Given the description of an element on the screen output the (x, y) to click on. 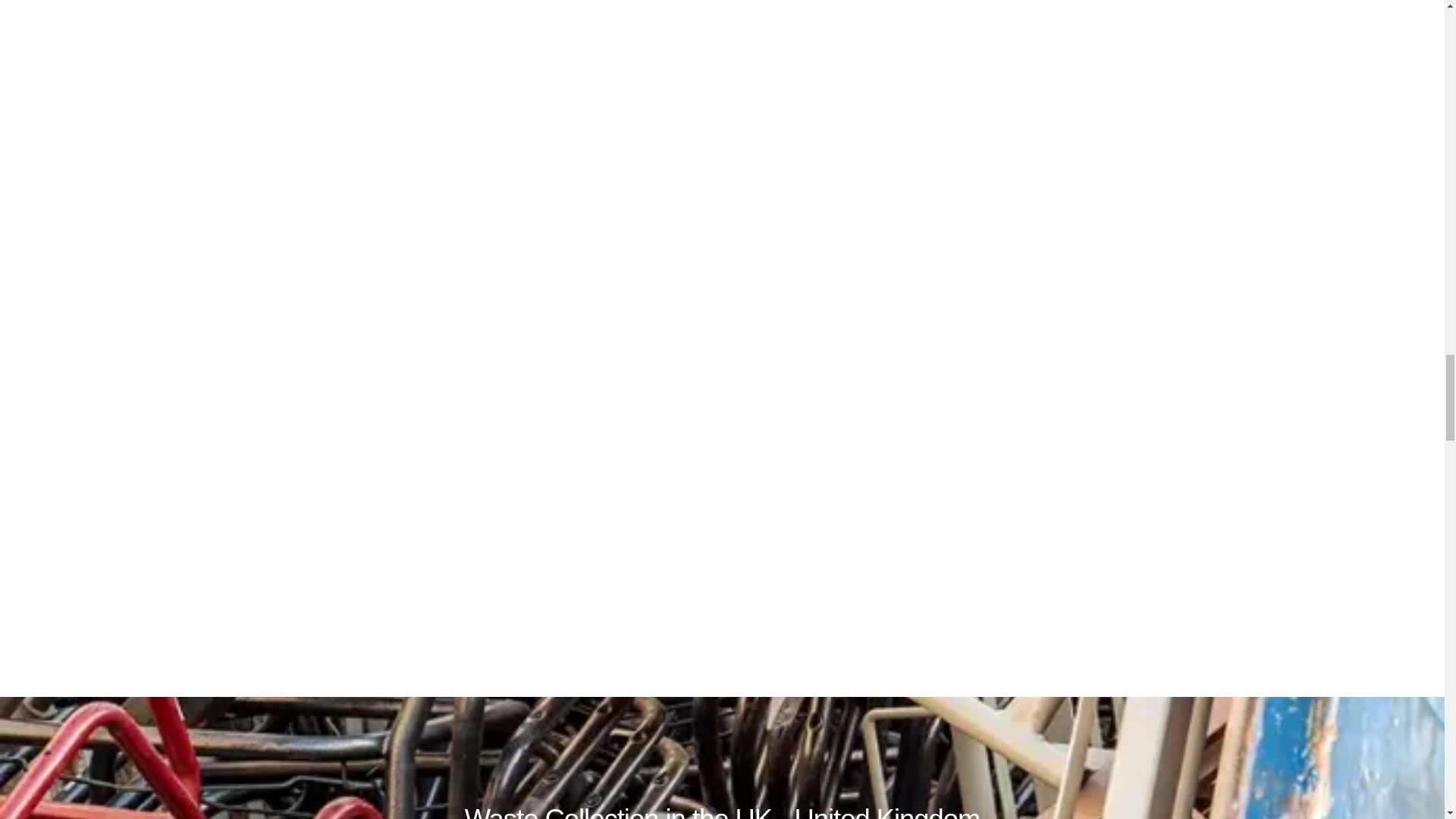
Waste Collection in the UK - United Kingdom (721, 811)
Refuse Collection in the UK - United Kingdom (722, 236)
Local Skip Hire in the UK - United Kingdom (722, 527)
